Given the description of an element on the screen output the (x, y) to click on. 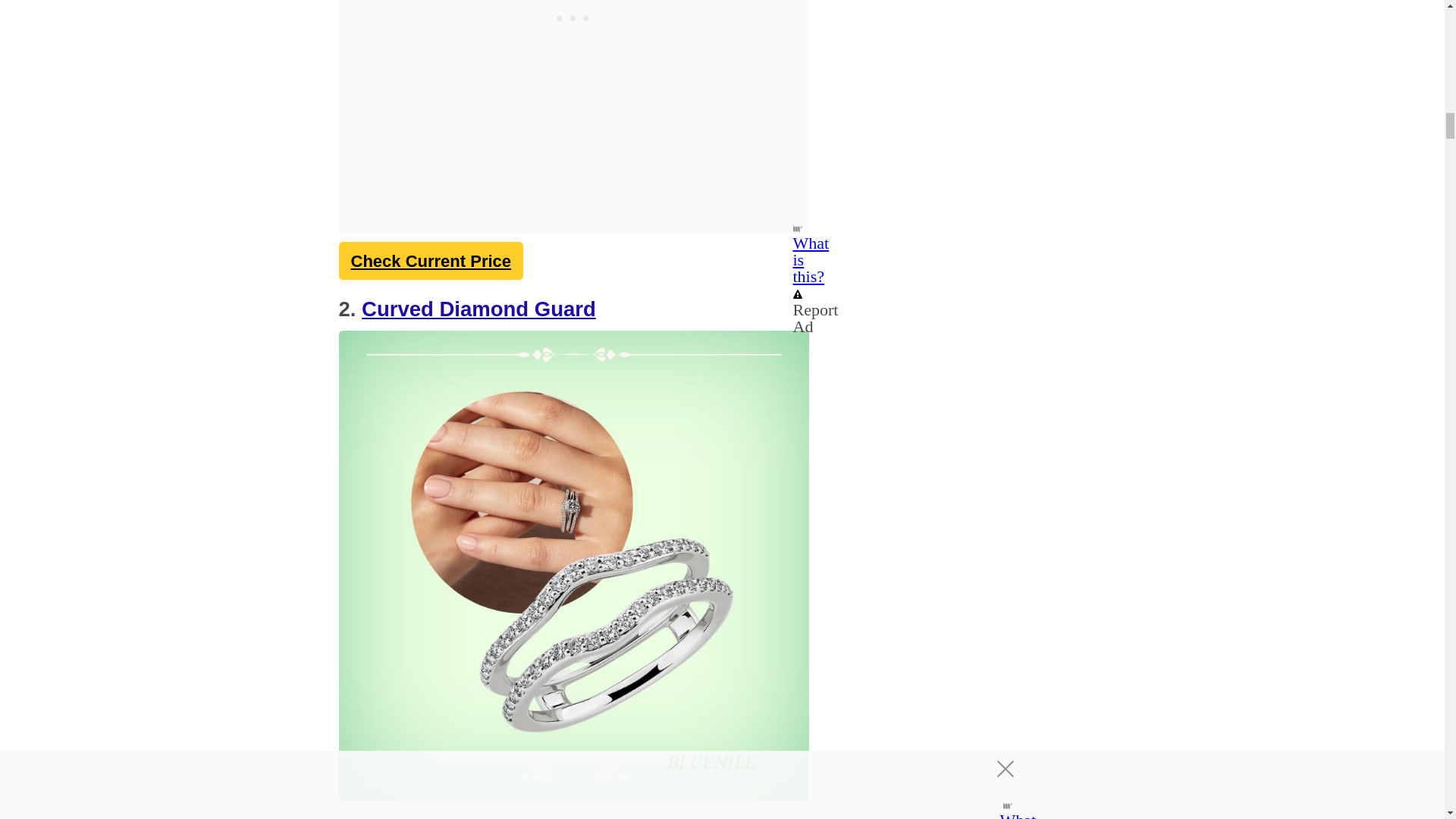
Curved Diamond Guard (478, 309)
Check Current Price (429, 260)
